Given the description of an element on the screen output the (x, y) to click on. 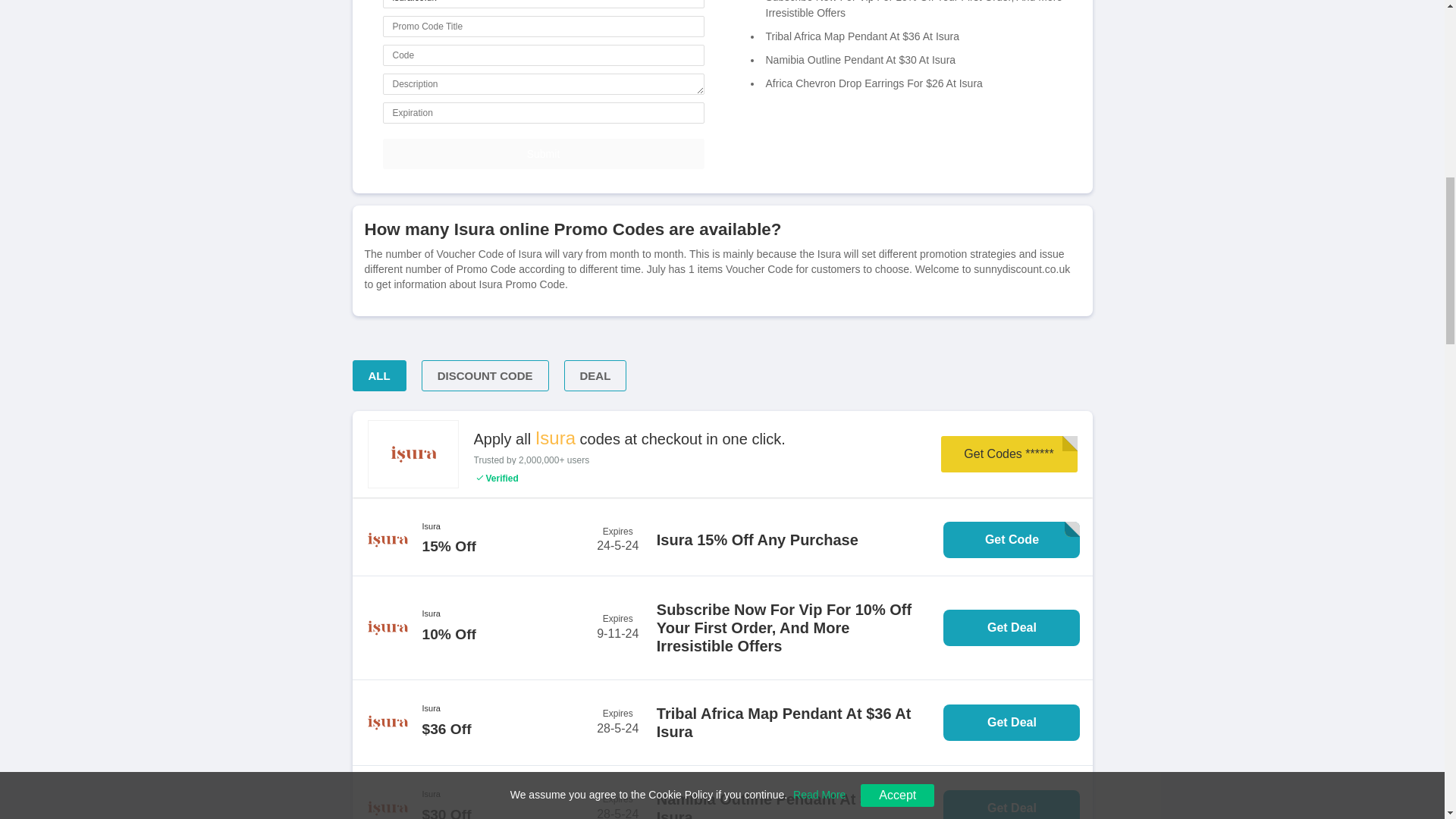
Get Deal (1011, 627)
Get Deal (1011, 722)
Get Deal (1011, 804)
isura.co.uk (542, 4)
Submit (542, 153)
Get Code (1011, 539)
